Given the description of an element on the screen output the (x, y) to click on. 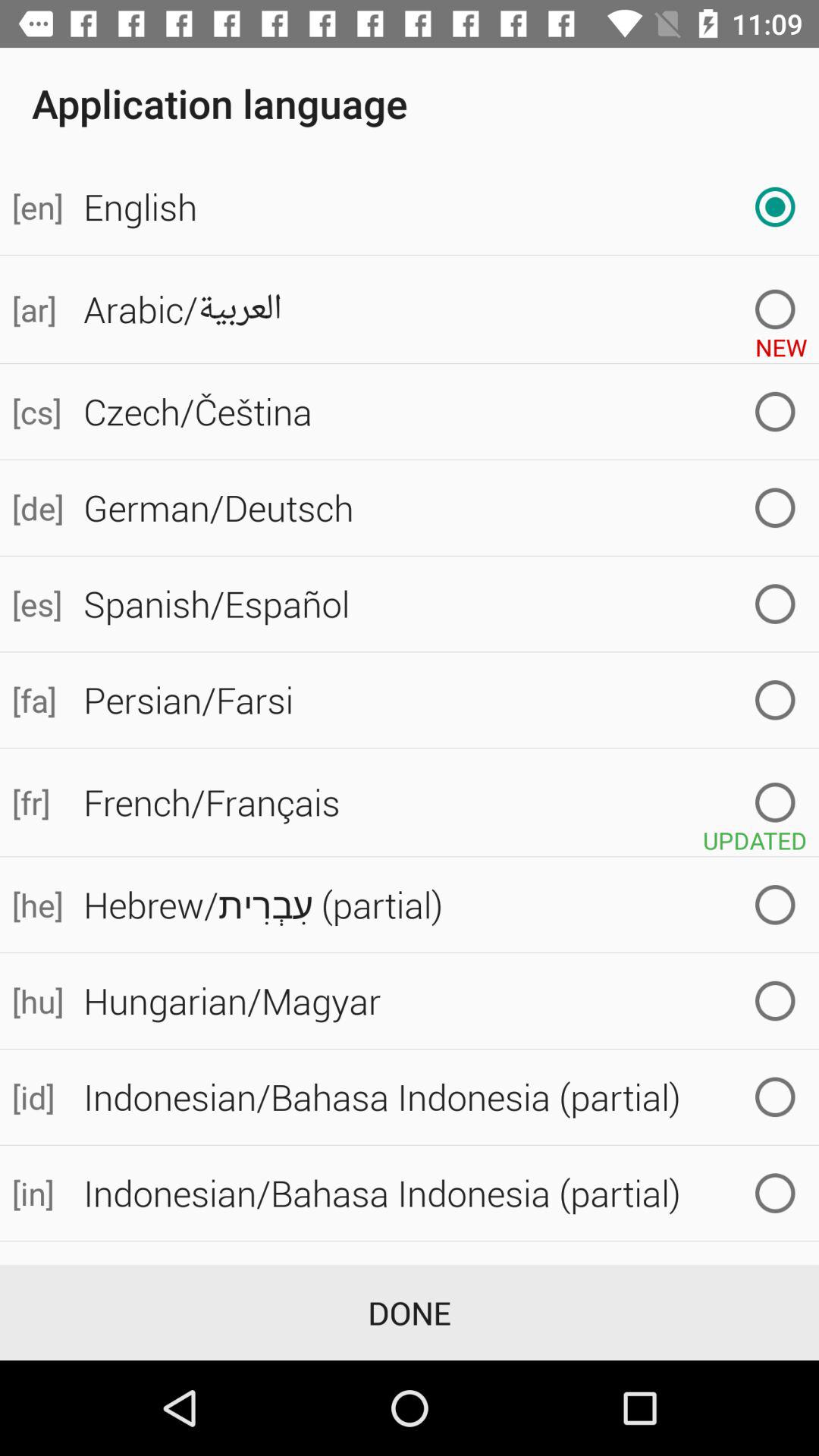
choose icon below persian/farsi icon (445, 802)
